Given the description of an element on the screen output the (x, y) to click on. 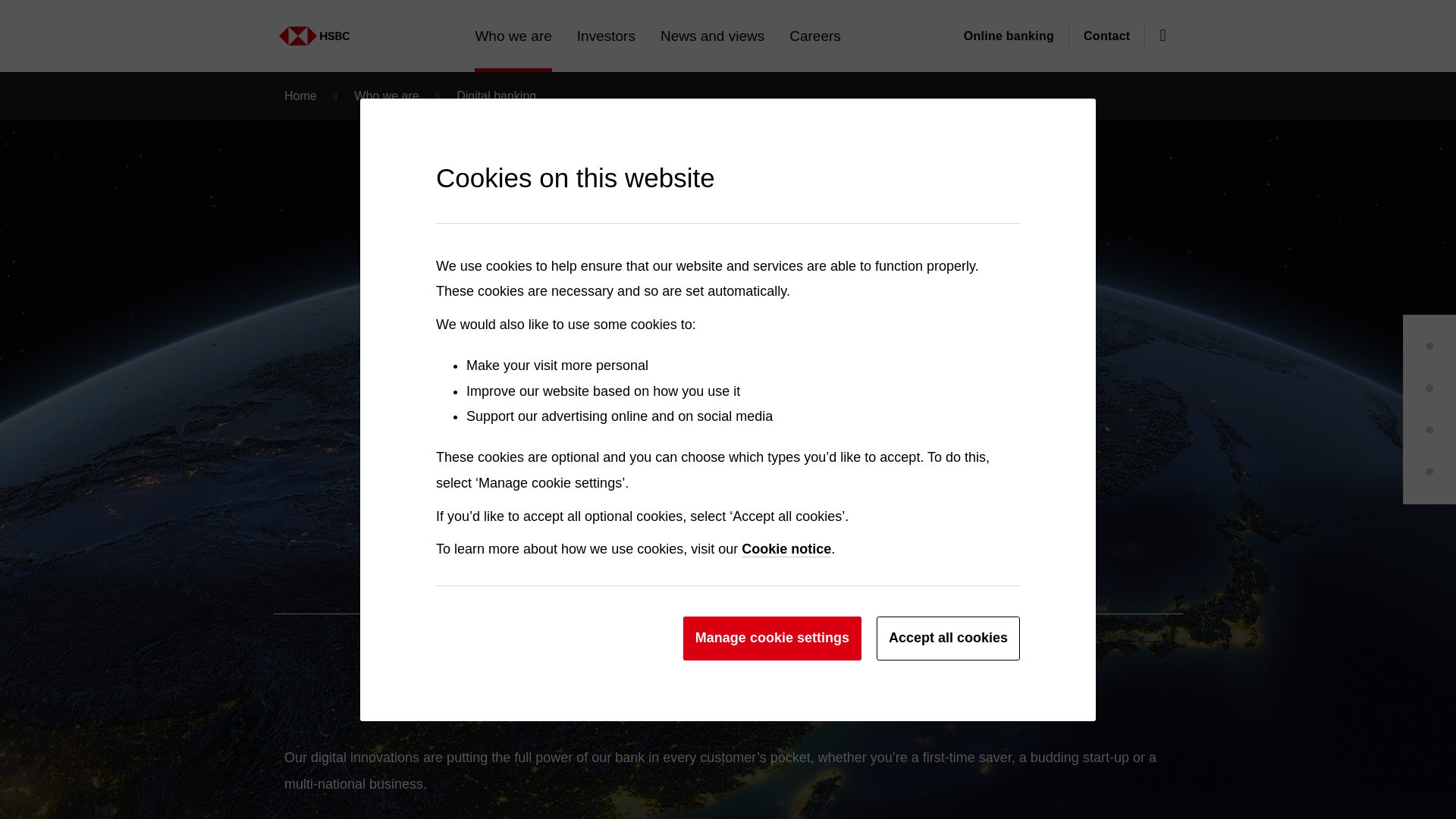
Who we are (512, 36)
Home (155, 28)
